Given the description of an element on the screen output the (x, y) to click on. 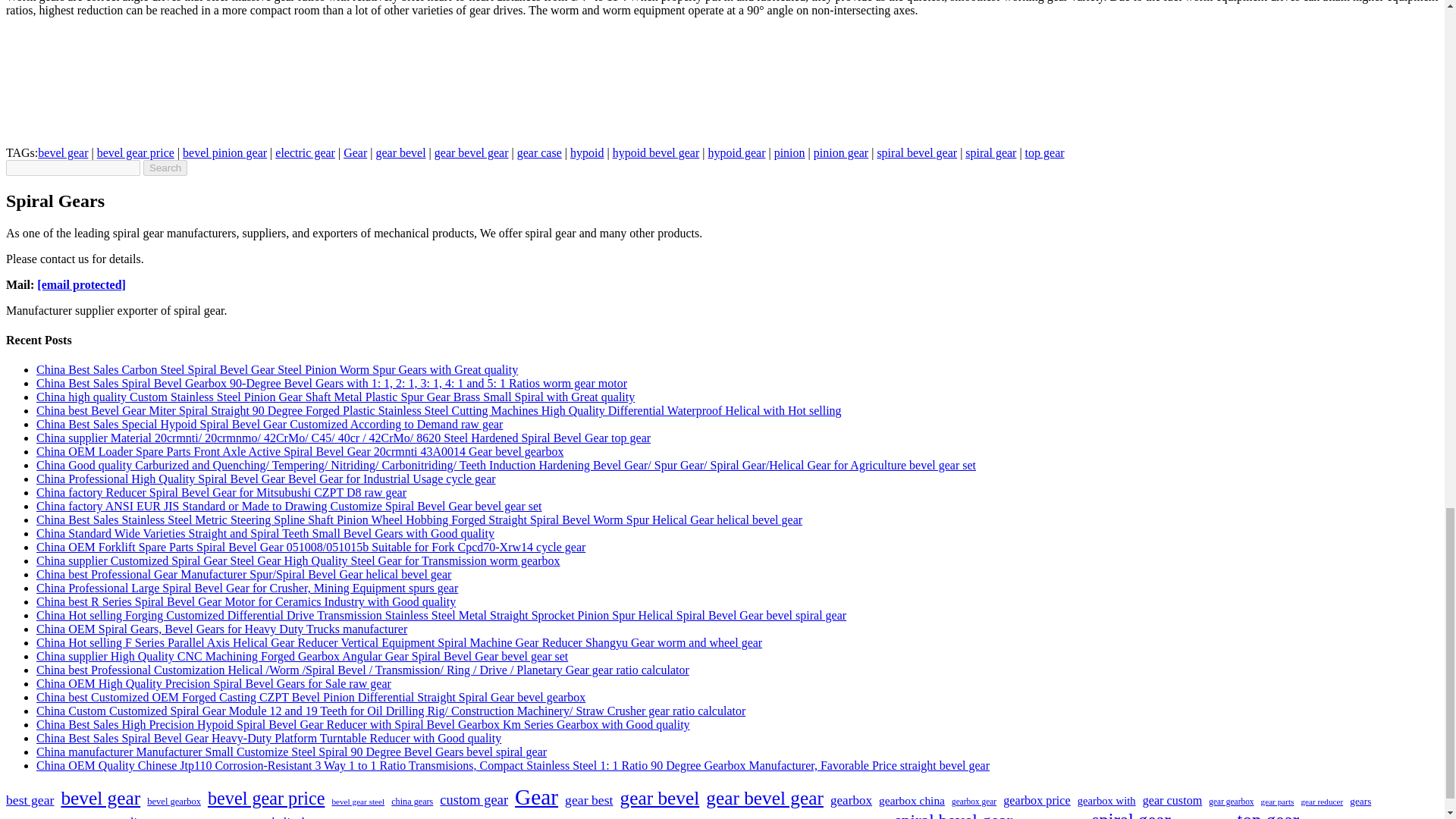
gear case (539, 152)
hypoid bevel gear (656, 152)
pinion (789, 152)
Search (164, 167)
hypoid gear (736, 152)
electric gear (304, 152)
Search (164, 167)
bevel gear price (135, 152)
hypoid (587, 152)
